Given the description of an element on the screen output the (x, y) to click on. 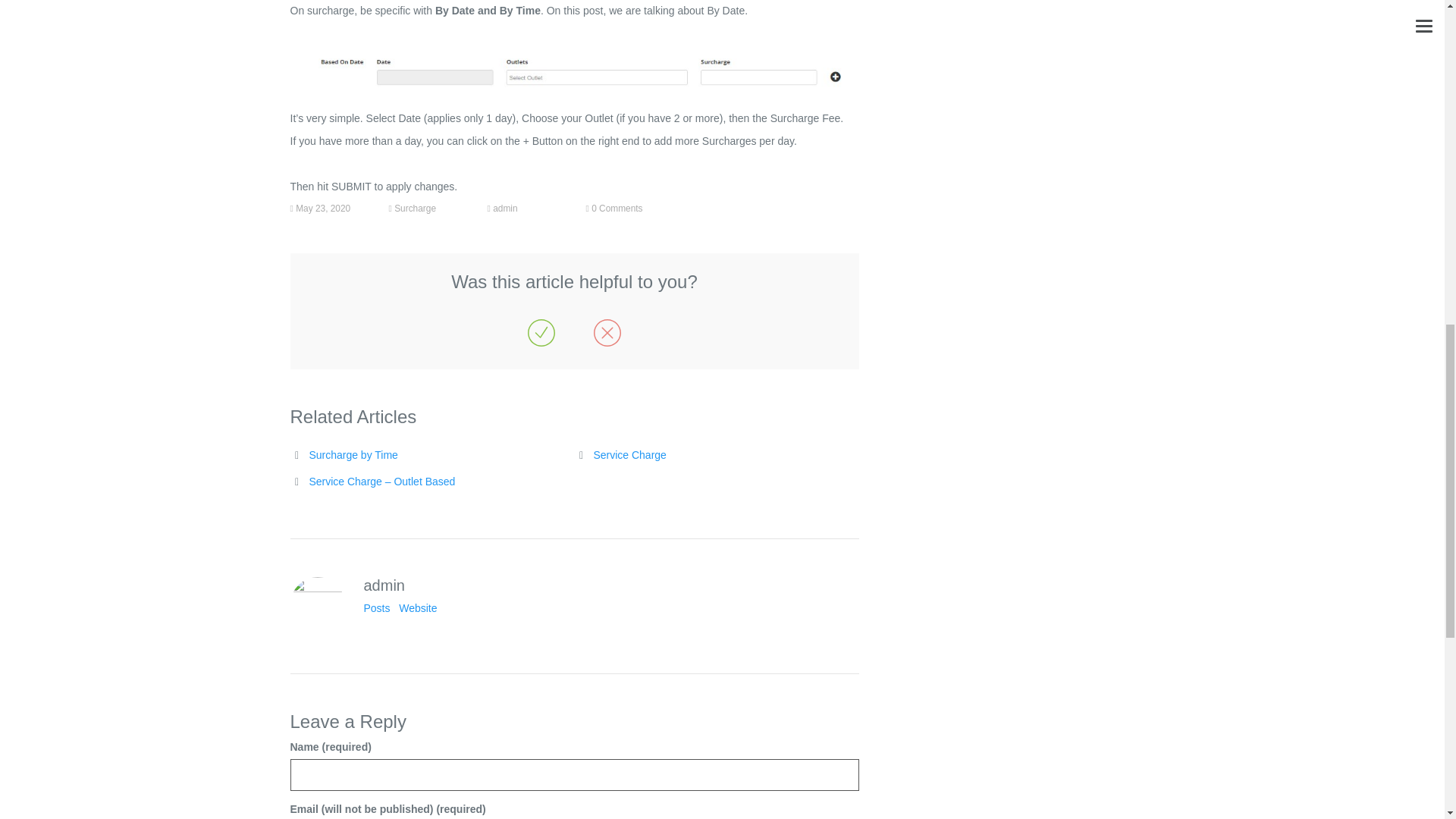
Surcharge (414, 208)
Posts (377, 607)
Website (417, 607)
May 23, 2020 (322, 208)
Website (417, 607)
0 Comments (616, 208)
admin Posts (377, 607)
Service Charge (629, 454)
Surcharge by Time (352, 454)
admin (504, 208)
View all posts by admin (504, 208)
